Given the description of an element on the screen output the (x, y) to click on. 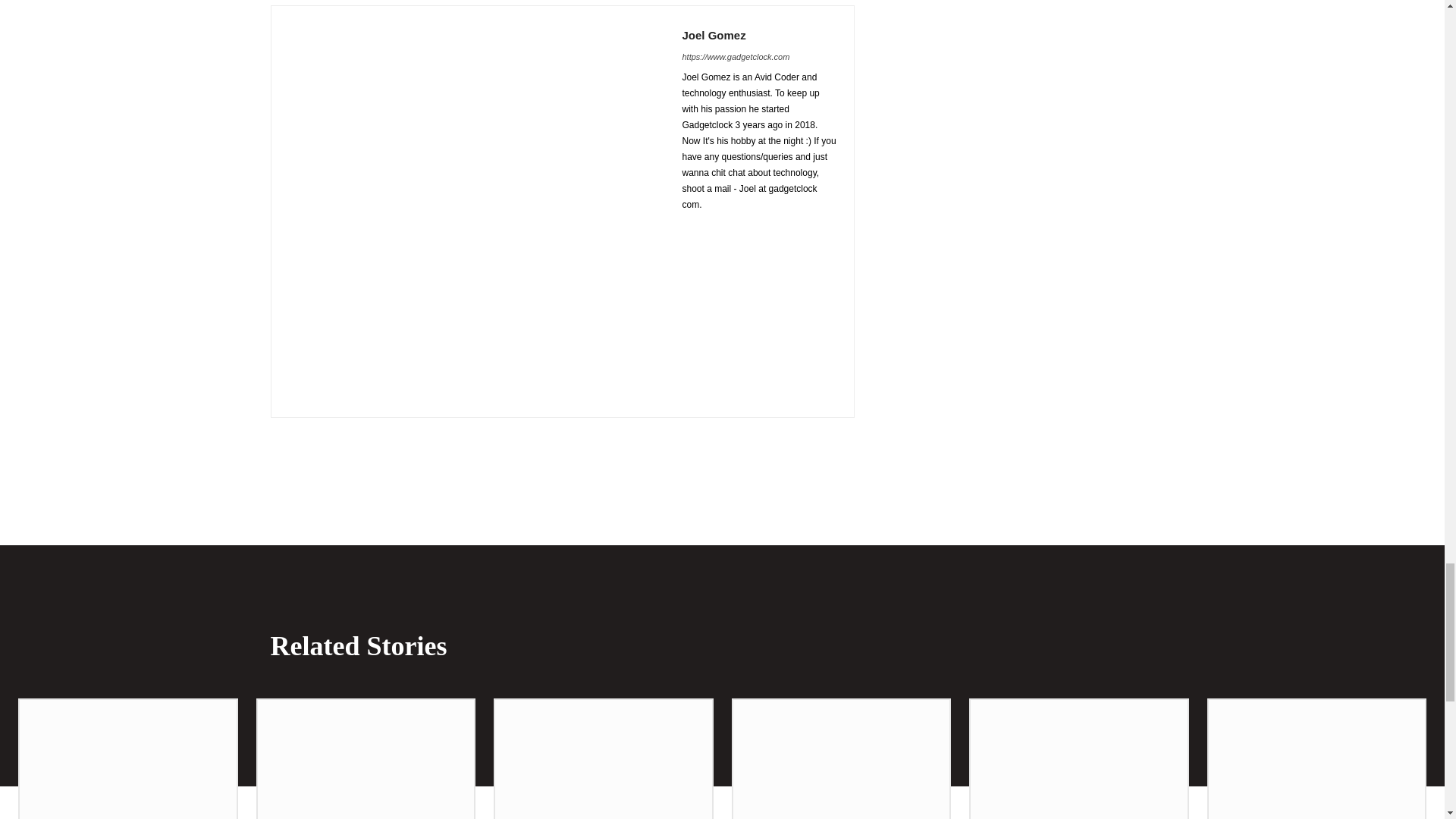
The Future of Work with AI and Human Collaboration (365, 759)
